Given the description of an element on the screen output the (x, y) to click on. 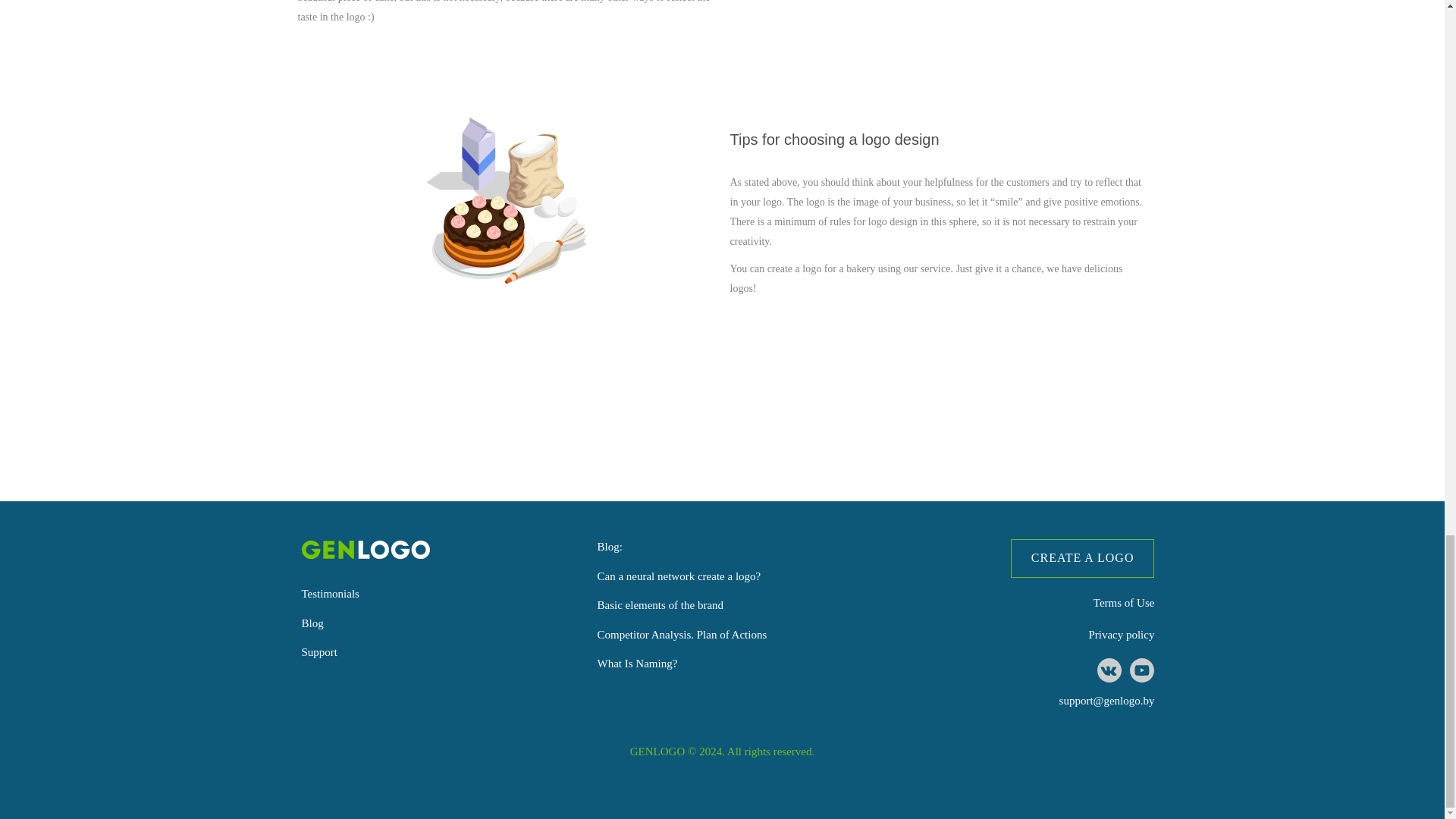
Blog: (608, 546)
Blog (312, 623)
Basic elements of the brand (659, 604)
Can a neural network create a logo? (678, 576)
Testimonials (330, 593)
CREATE A LOGO (1082, 558)
Support (319, 652)
Privacy policy (1120, 634)
Competitor Analysis. Plan of Actions (681, 634)
What Is Naming? (636, 663)
Terms of Use (1123, 603)
